Given the description of an element on the screen output the (x, y) to click on. 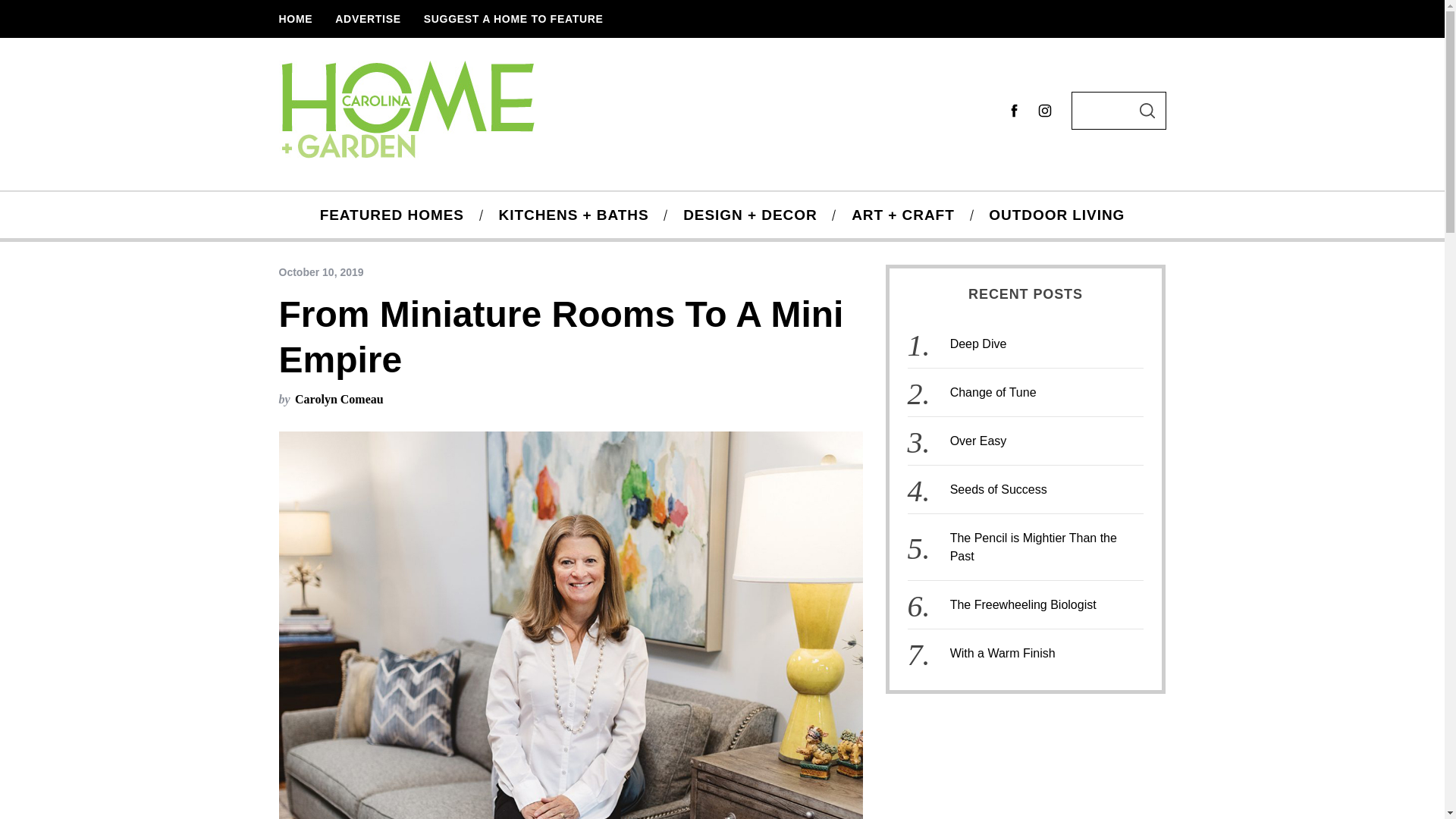
Seeds of Success (998, 489)
The Pencil is Mightier Than the Past (1033, 546)
With a Warm Finish (1002, 653)
OUTDOOR LIVING (1057, 214)
ADVERTISE (367, 18)
SEARCH (1147, 109)
HOME (294, 18)
Over Easy (978, 440)
Change of Tune (993, 391)
The Freewheeling Biologist (1023, 604)
Deep Dive (978, 343)
SUGGEST A HOME TO FEATURE (513, 18)
